Given the description of an element on the screen output the (x, y) to click on. 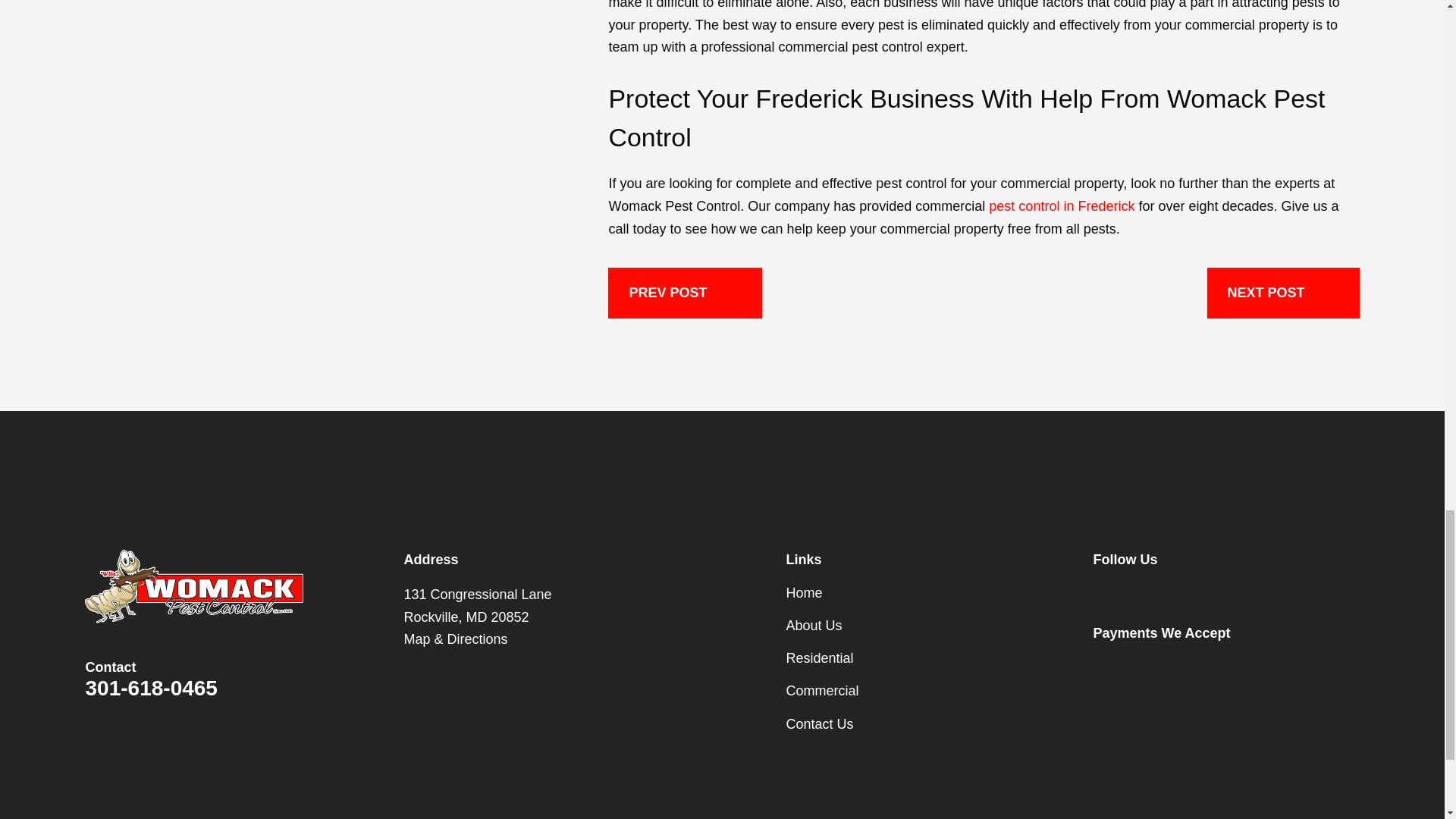
Facebook (1102, 592)
Google Business Profile (1151, 592)
AMEX (1151, 666)
MasterCard (1201, 666)
Home (193, 586)
Discover (1250, 666)
Cash (1299, 666)
Visa (1102, 666)
